Given the description of an element on the screen output the (x, y) to click on. 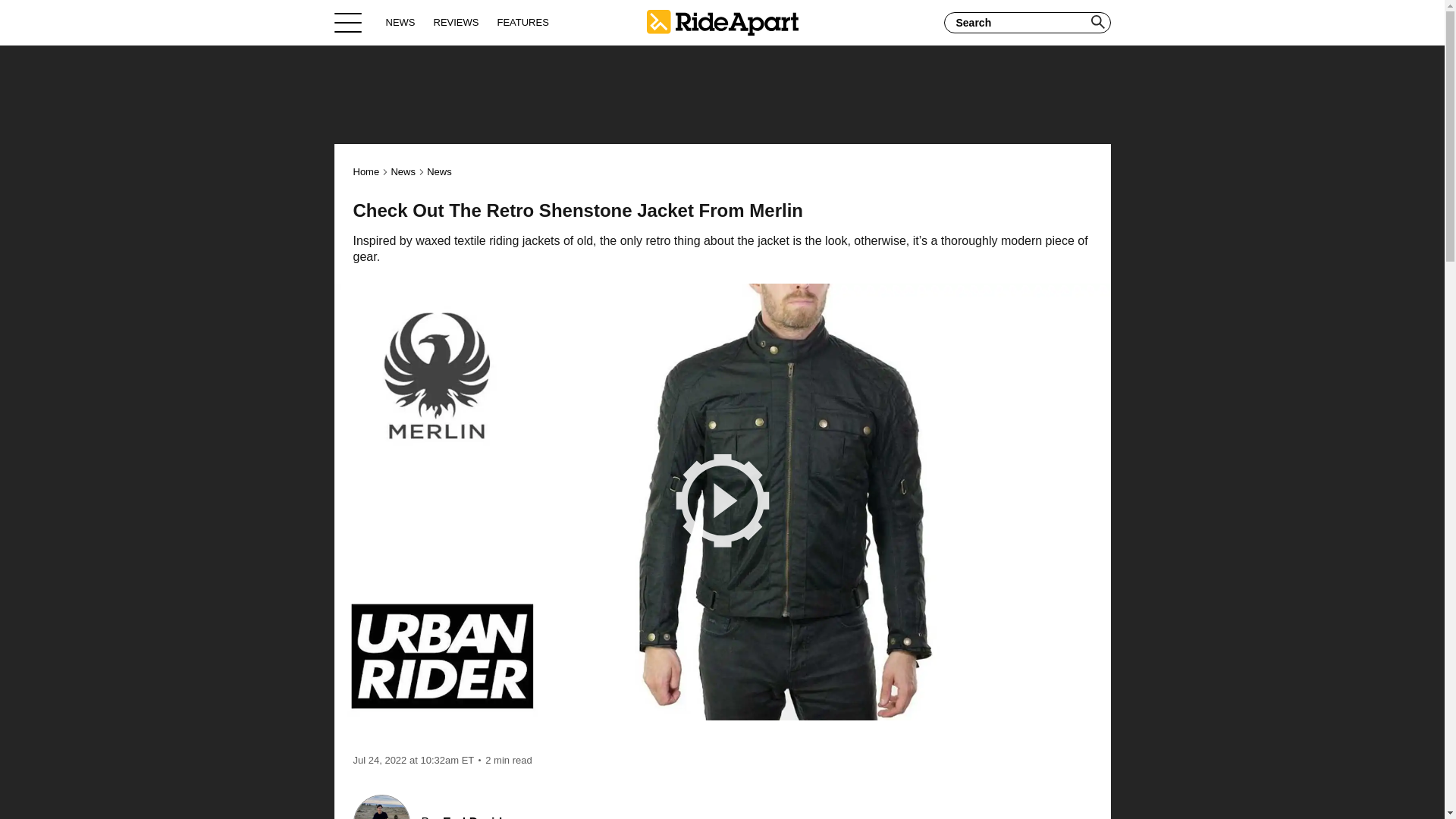
News (402, 171)
FEATURES (522, 22)
News (438, 171)
NEWS (399, 22)
Earl Davidson (483, 817)
Home (721, 22)
REVIEWS (456, 22)
Home (366, 171)
